Given the description of an element on the screen output the (x, y) to click on. 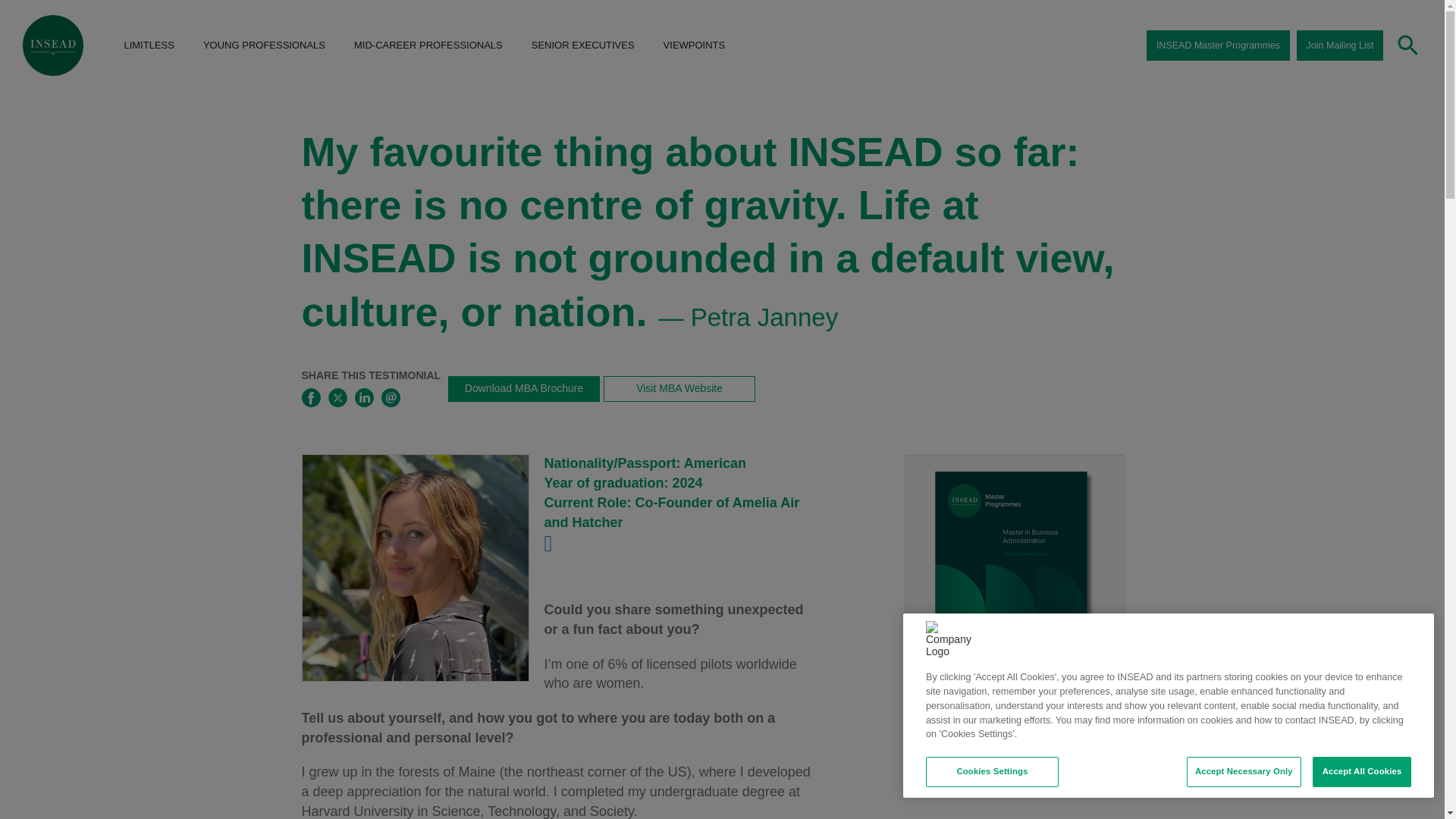
Company Logo (950, 644)
Visit MBA Website (679, 388)
LIMITLESS (148, 45)
YOUNG PROFESSIONALS (263, 45)
Download Now (1013, 759)
VIEWPOINTS (694, 45)
MID-CAREER PROFESSIONALS (428, 45)
Download MBA Brochure (523, 388)
INSEAD (52, 45)
Join Mailing List (1340, 45)
